Given the description of an element on the screen output the (x, y) to click on. 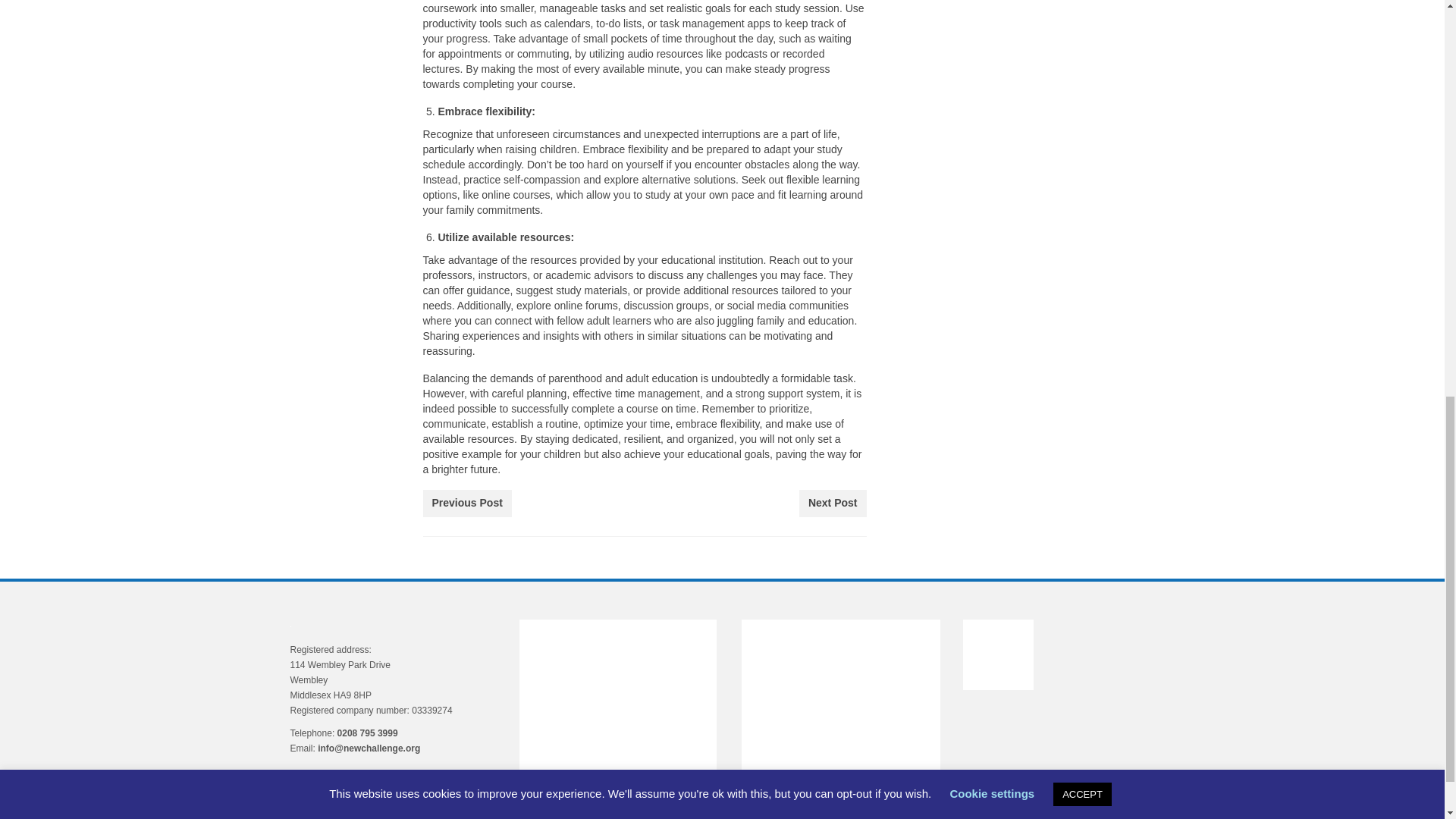
0208 795 3999 (367, 733)
Next Post (832, 502)
Previous Post (467, 502)
